Given the description of an element on the screen output the (x, y) to click on. 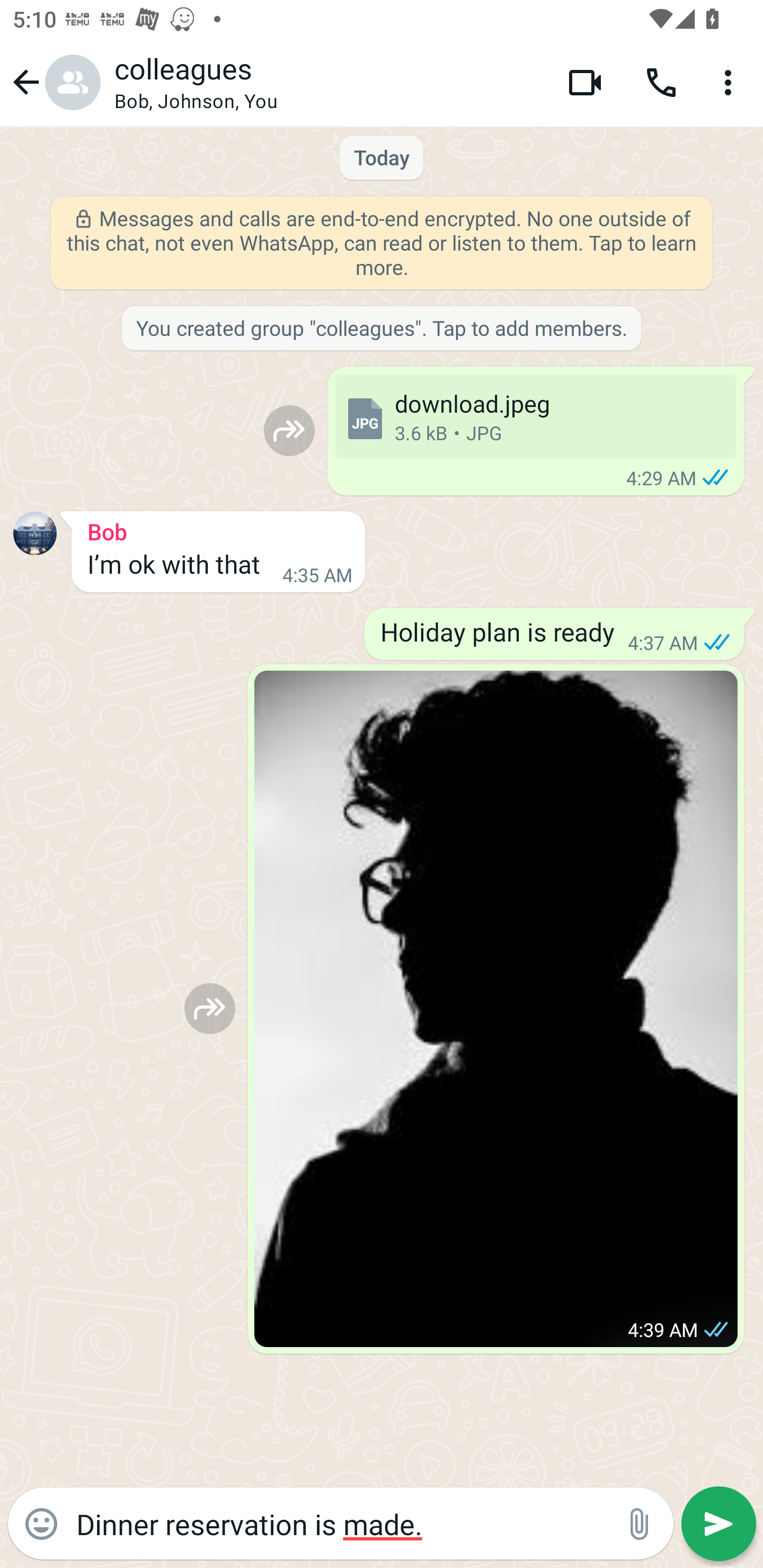
colleagues Bob, Johnson, You (327, 82)
Navigate up (54, 82)
Video call (585, 81)
Voice call (661, 81)
More options (731, 81)
download.jpeg 3.6 kB • JPG (535, 415)
Forward to… (288, 430)
Profile picture for Bob (34, 533)
Bob (217, 529)
View photo (495, 1008)
Forward to… (209, 1008)
Emoji (41, 1523)
Attach (640, 1523)
Send (718, 1523)
Dinner reservation is made. (340, 1523)
